Given the description of an element on the screen output the (x, y) to click on. 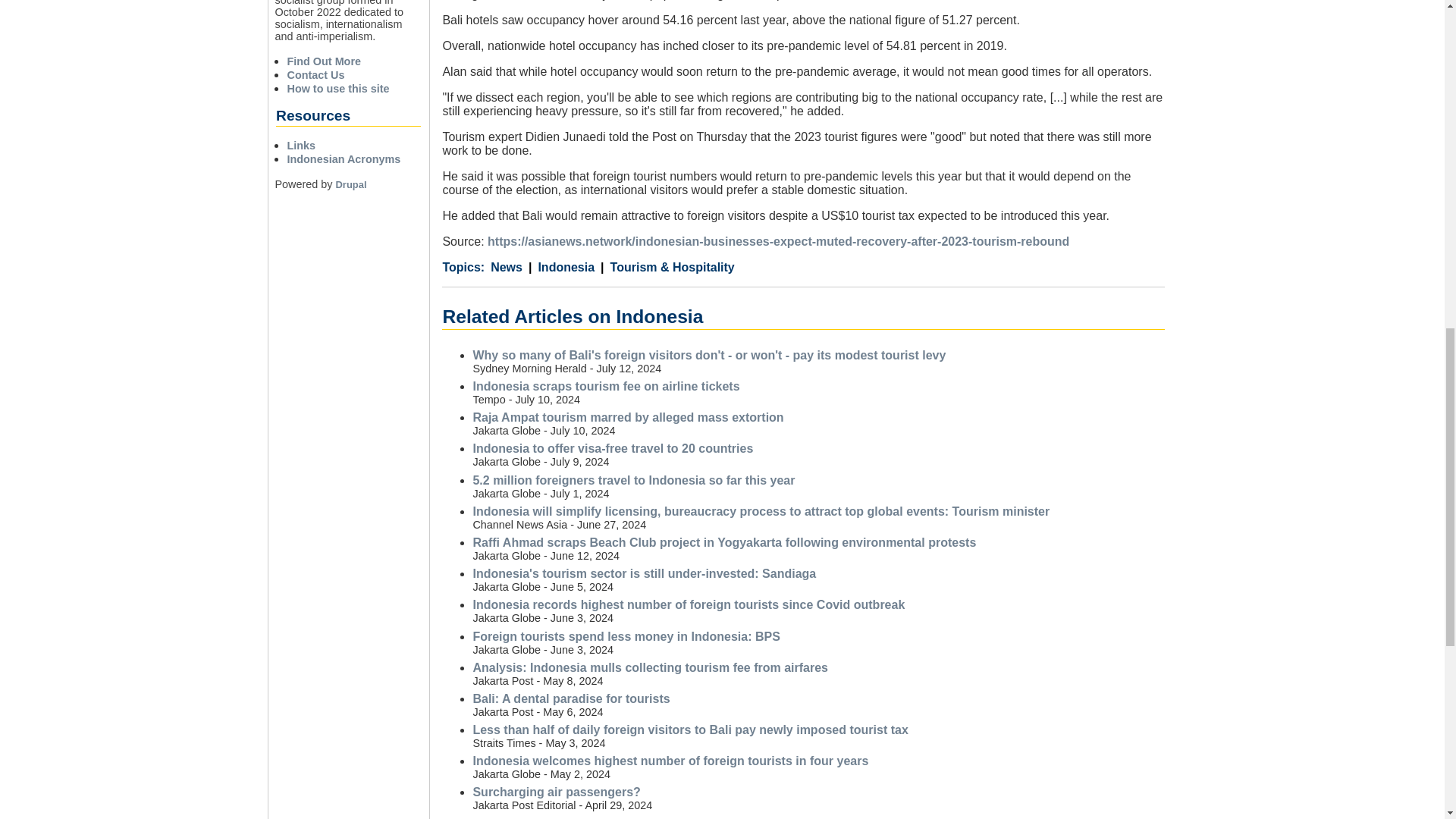
Indonesia scraps tourism fee on airline tickets (605, 386)
News (506, 267)
Raja Ampat tourism marred by alleged mass extortion (627, 417)
Indonesia's tourism sector is still under-invested: Sandiaga (643, 573)
5.2 million foreigners travel to Indonesia so far this year (632, 480)
Foreign tourists spend less money in Indonesia: BPS (624, 635)
Indonesia to offer visa-free travel to 20 countries (611, 448)
Bali: A dental paradise for tourists (570, 698)
